Given the description of an element on the screen output the (x, y) to click on. 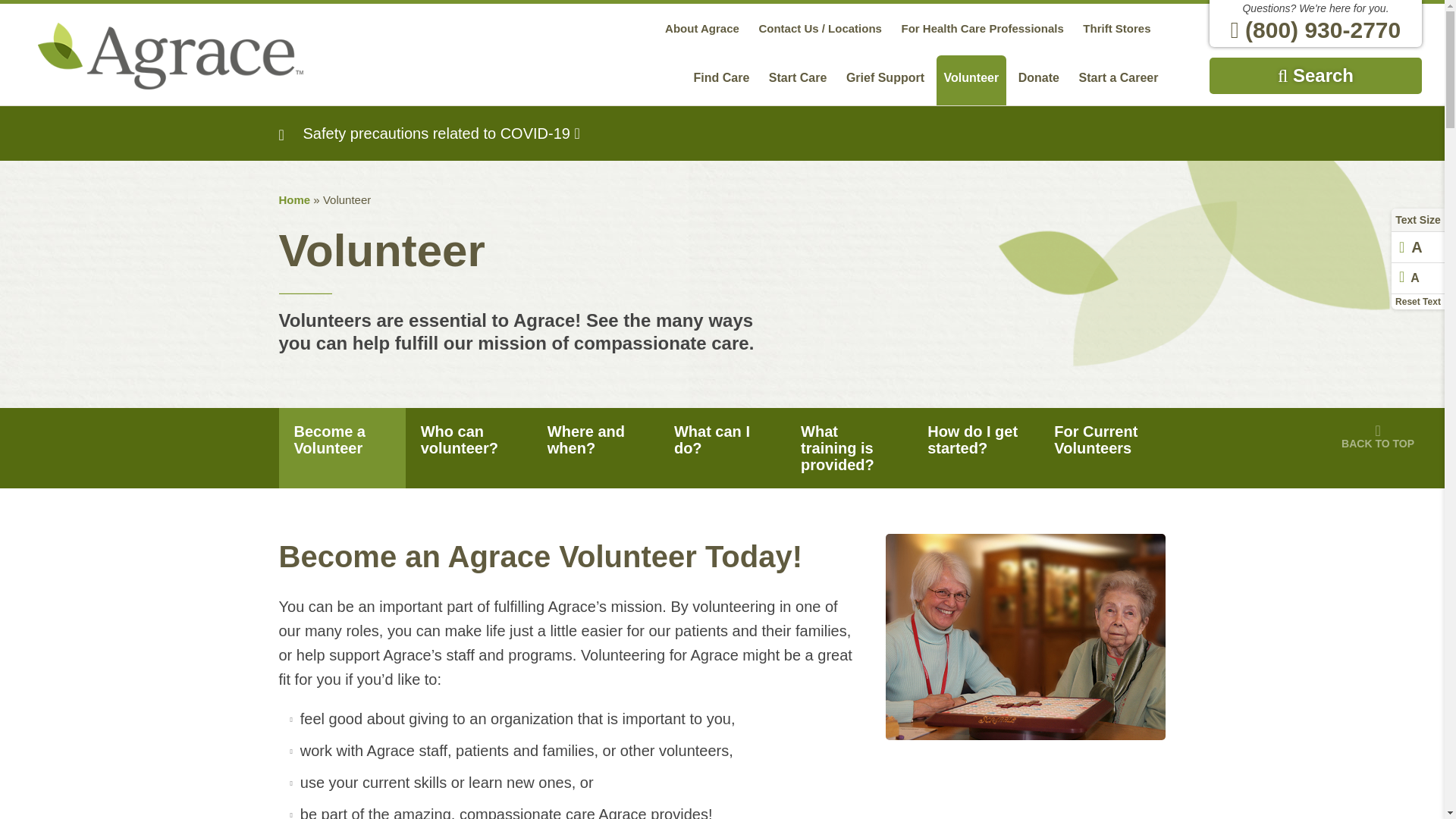
About Agrace (702, 28)
Grief Support (884, 80)
Volunteer (971, 80)
Start Care (797, 80)
Donate (1038, 80)
Find Care (721, 80)
Start a Career (1118, 80)
For Health Care Professionals (982, 28)
Thrift Stores (1116, 28)
